Given the description of an element on the screen output the (x, y) to click on. 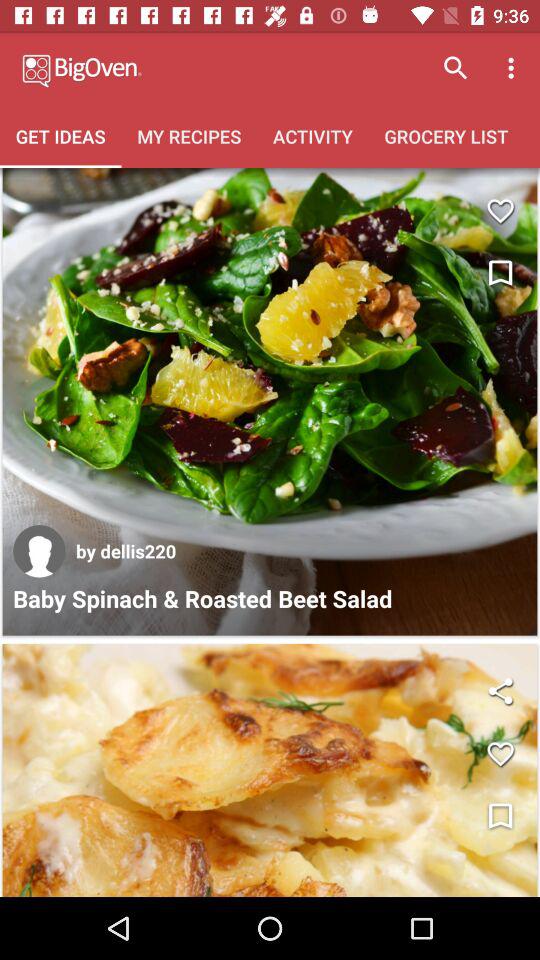
select item to the left of the by dellis220 (39, 551)
